Given the description of an element on the screen output the (x, y) to click on. 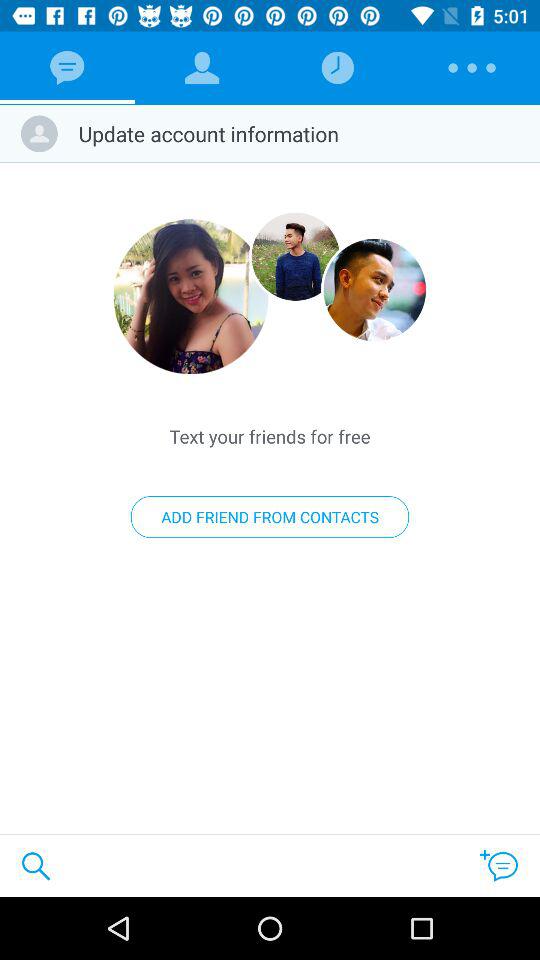
click to option (295, 256)
